Given the description of an element on the screen output the (x, y) to click on. 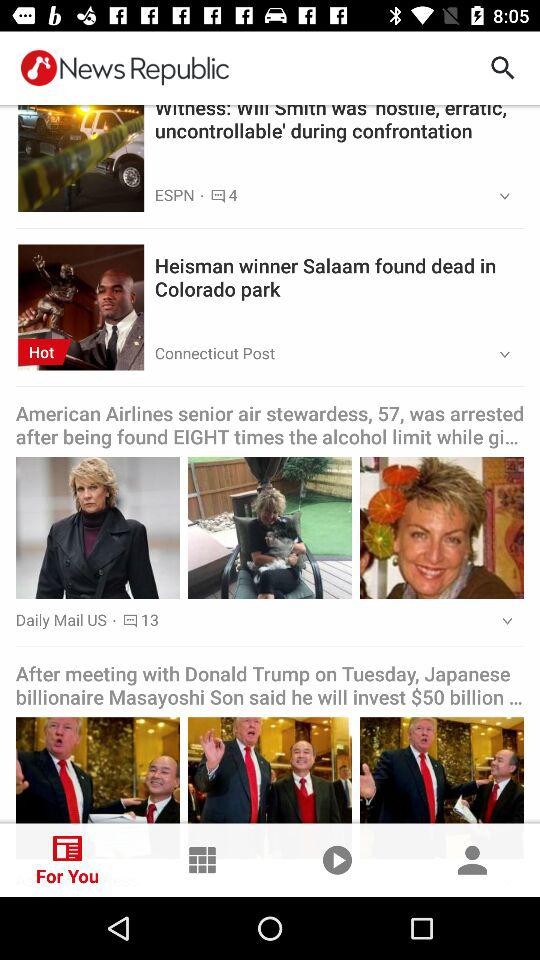
select the image of female in middle left of the page (97, 527)
select the first image on the web page (80, 149)
